Given the description of an element on the screen output the (x, y) to click on. 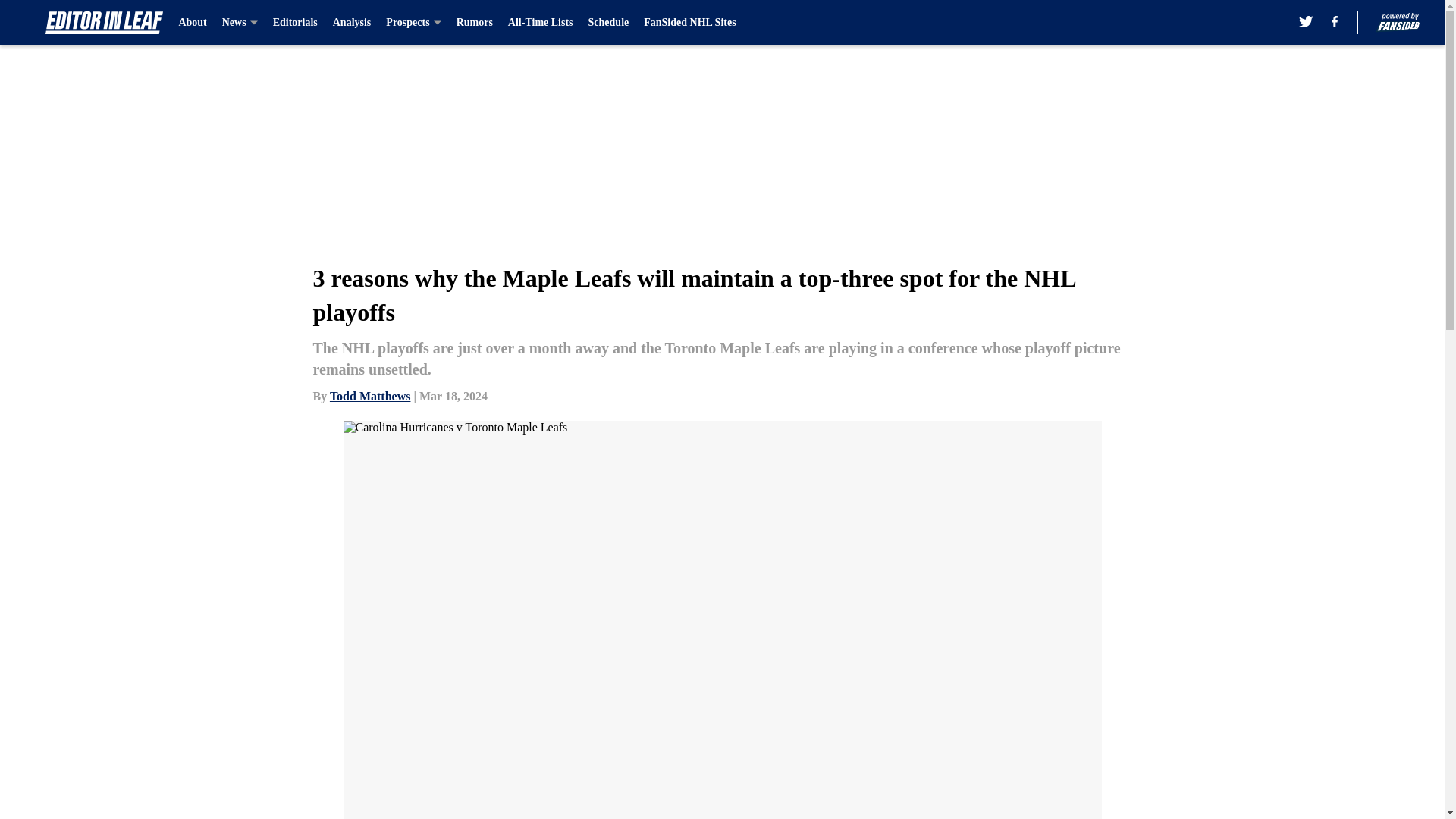
Rumors (475, 22)
Todd Matthews (370, 395)
Schedule (608, 22)
All-Time Lists (540, 22)
About (191, 22)
Analysis (352, 22)
FanSided NHL Sites (689, 22)
Editorials (295, 22)
